Given the description of an element on the screen output the (x, y) to click on. 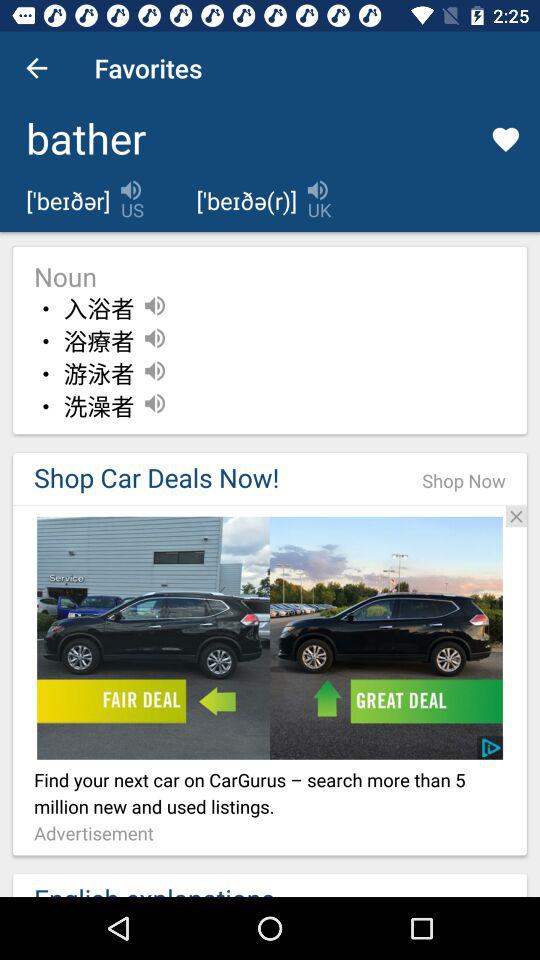
open advertisement (269, 637)
